Given the description of an element on the screen output the (x, y) to click on. 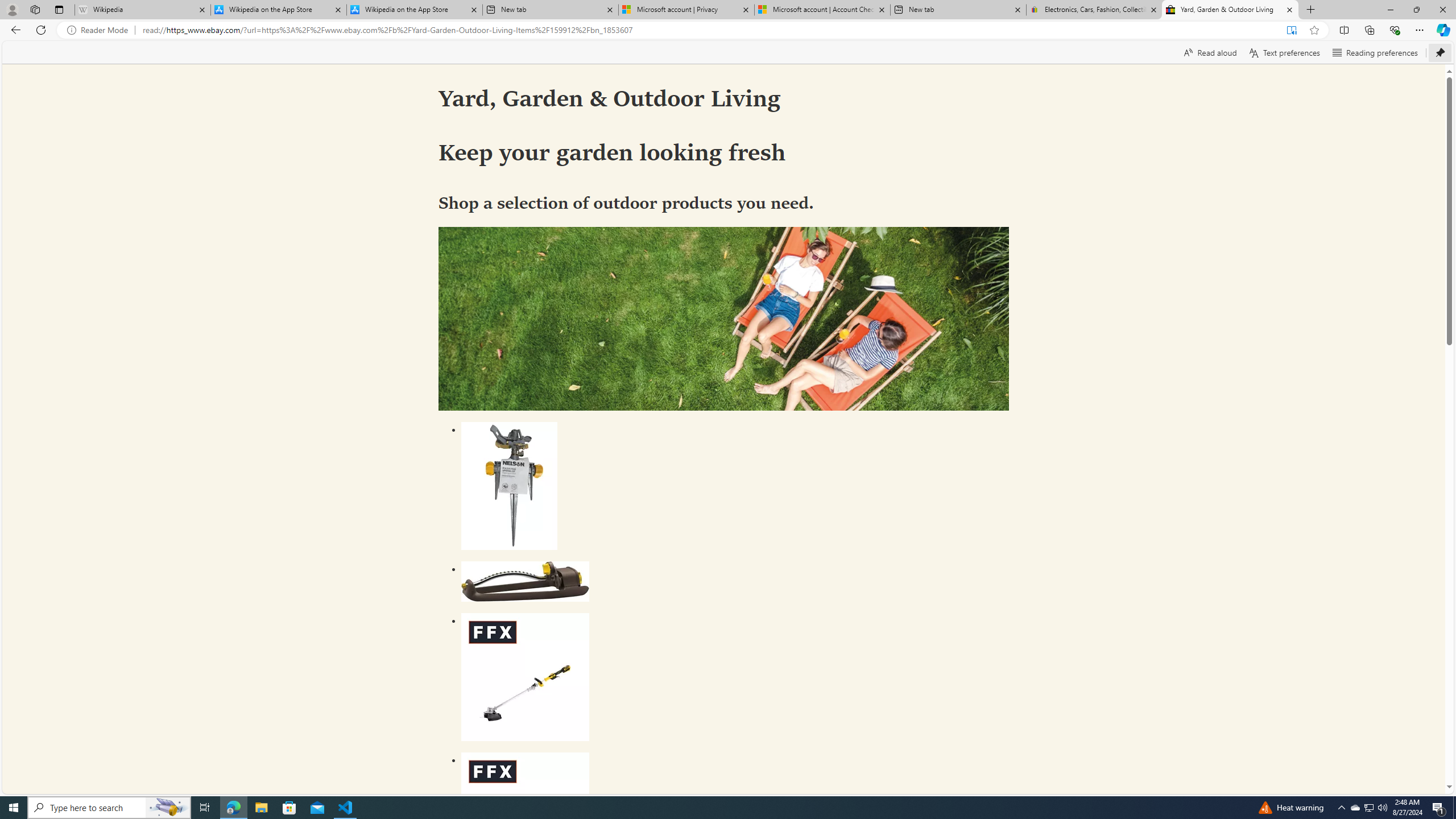
Reader Mode (100, 29)
Wikipedia - Sleeping (142, 9)
